Given the description of an element on the screen output the (x, y) to click on. 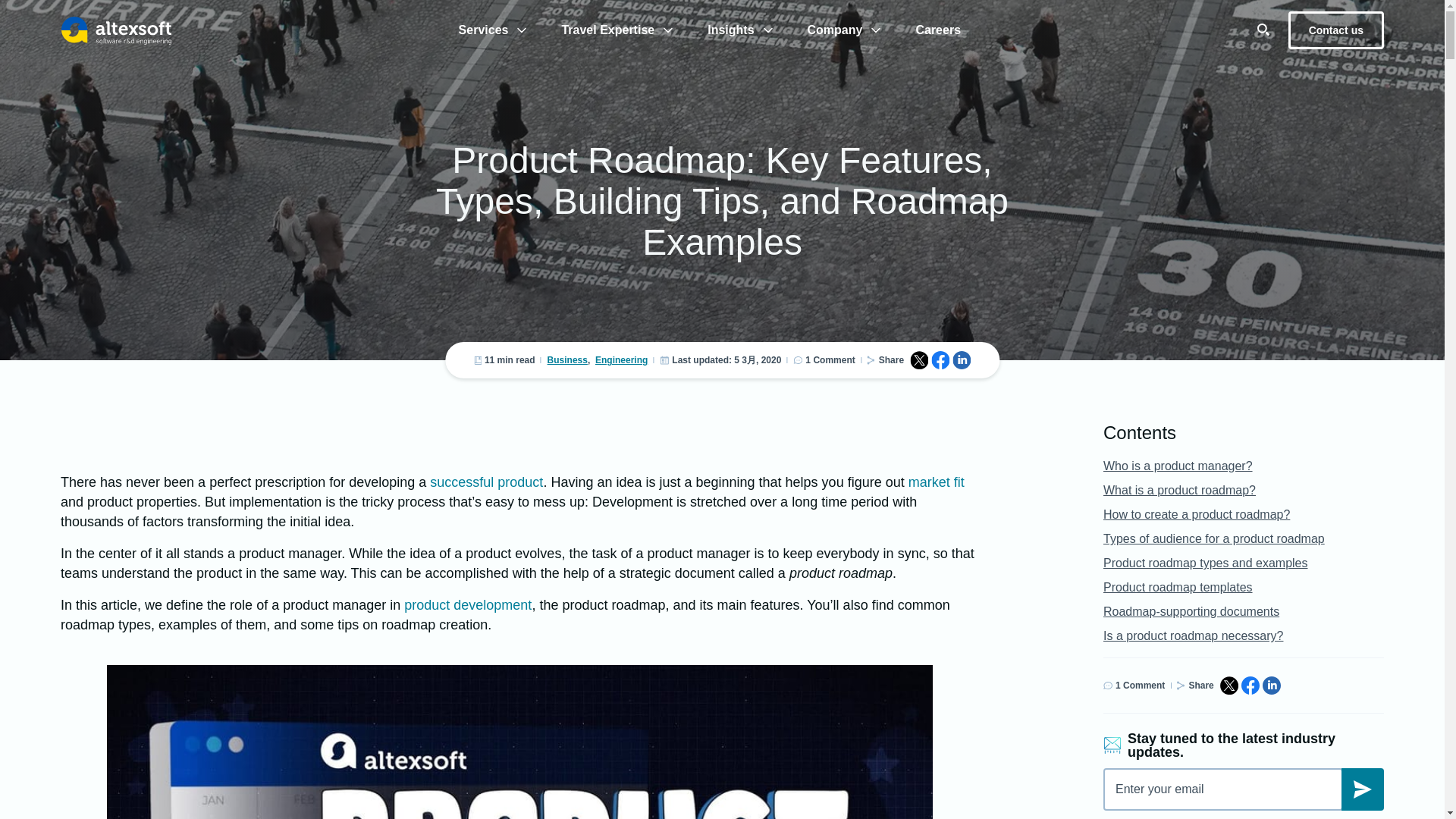
Careers (937, 30)
successful product (486, 482)
Engineering (621, 359)
Contact us (1336, 30)
market fit (935, 482)
product development (467, 604)
Business (567, 359)
1 Comment (829, 359)
